Given the description of an element on the screen output the (x, y) to click on. 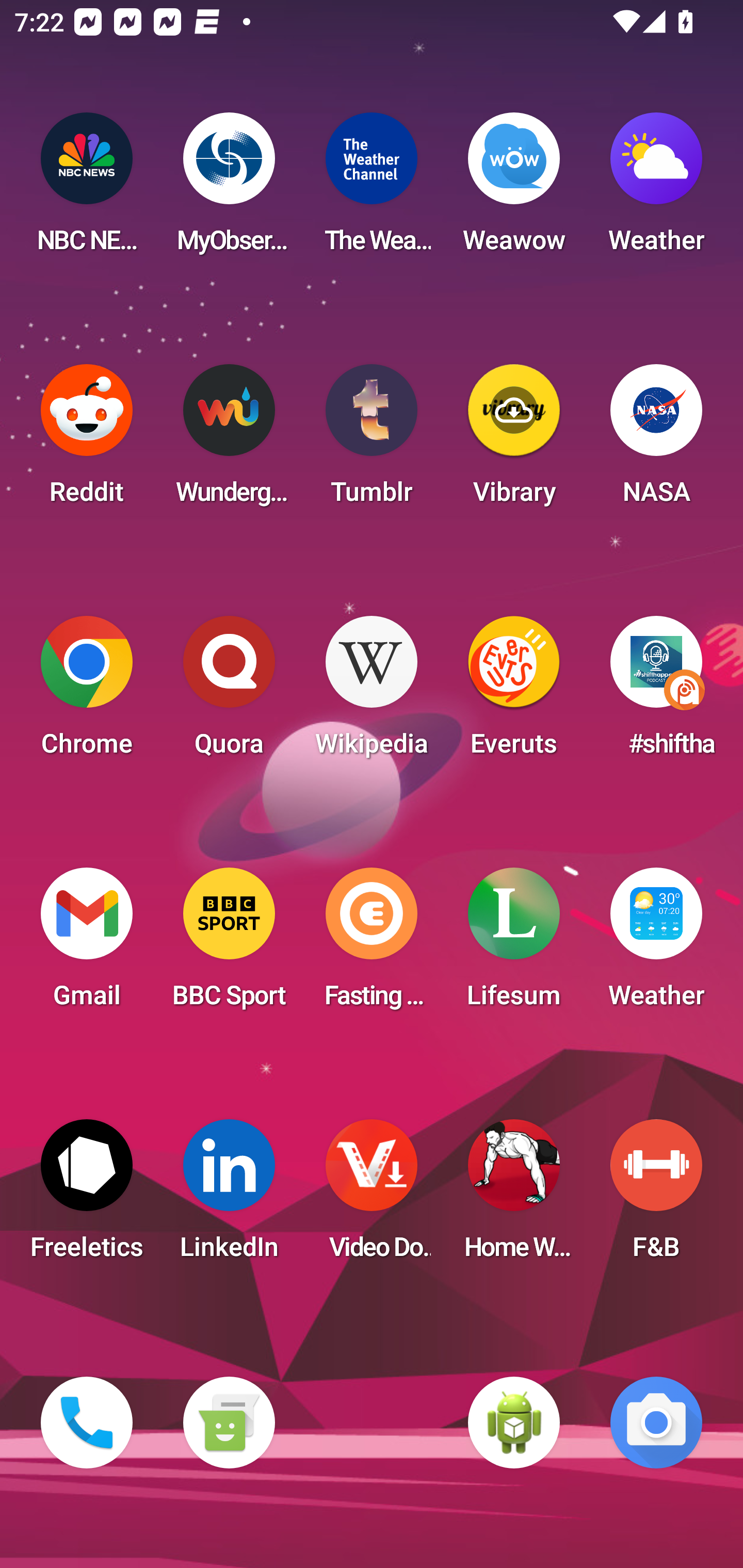
NBC NEWS (86, 188)
MyObservatory (228, 188)
The Weather Channel (371, 188)
Weawow (513, 188)
Weather (656, 188)
Reddit (86, 440)
Wunderground (228, 440)
Tumblr (371, 440)
Vibrary (513, 440)
NASA (656, 440)
Chrome (86, 692)
Quora (228, 692)
Wikipedia (371, 692)
Everuts (513, 692)
#shifthappens in the Digital Workplace Podcast (656, 692)
Gmail (86, 943)
BBC Sport (228, 943)
Fasting Coach (371, 943)
Lifesum (513, 943)
Weather (656, 943)
Freeletics (86, 1195)
LinkedIn (228, 1195)
Video Downloader & Ace Player (371, 1195)
Home Workout (513, 1195)
F&B (656, 1195)
Phone (86, 1422)
Messaging (228, 1422)
WebView Browser Tester (513, 1422)
Camera (656, 1422)
